Given the description of an element on the screen output the (x, y) to click on. 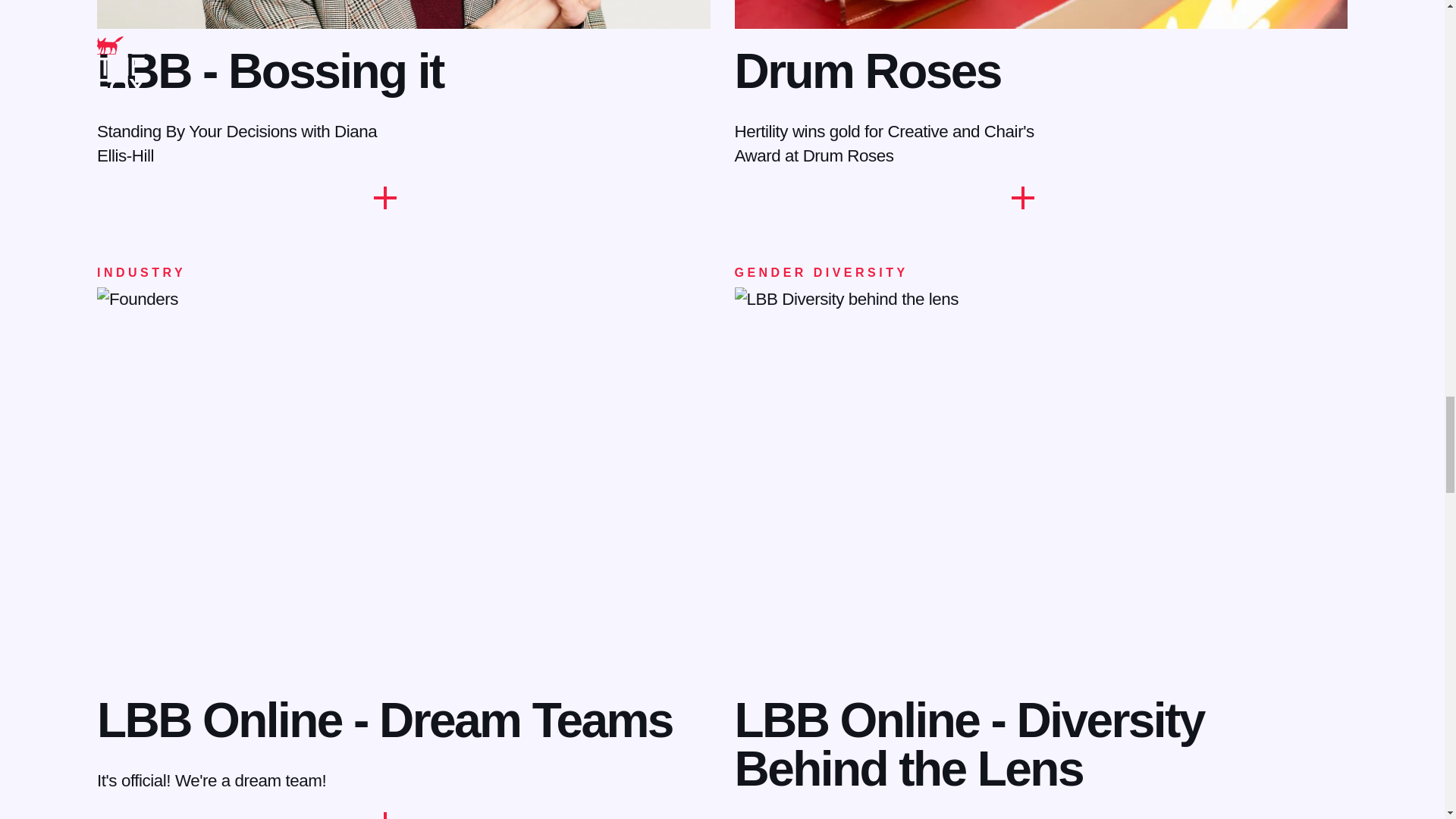
LBB Online - Dream Teams (384, 719)
LBB - Bossing it (270, 71)
LBB Online - Diversity Behind the Lens (968, 744)
Drum Roses (866, 71)
